Given the description of an element on the screen output the (x, y) to click on. 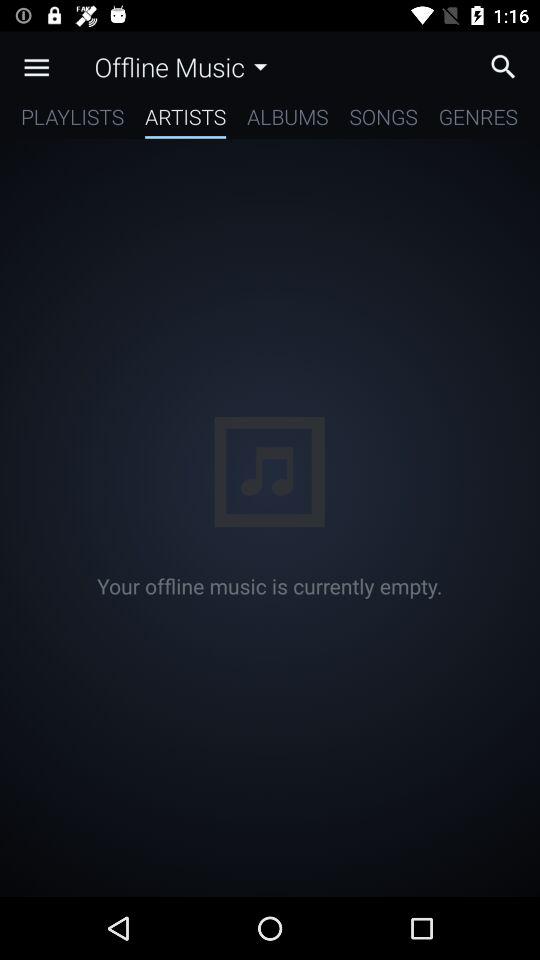
select the genres app (477, 120)
